Given the description of an element on the screen output the (x, y) to click on. 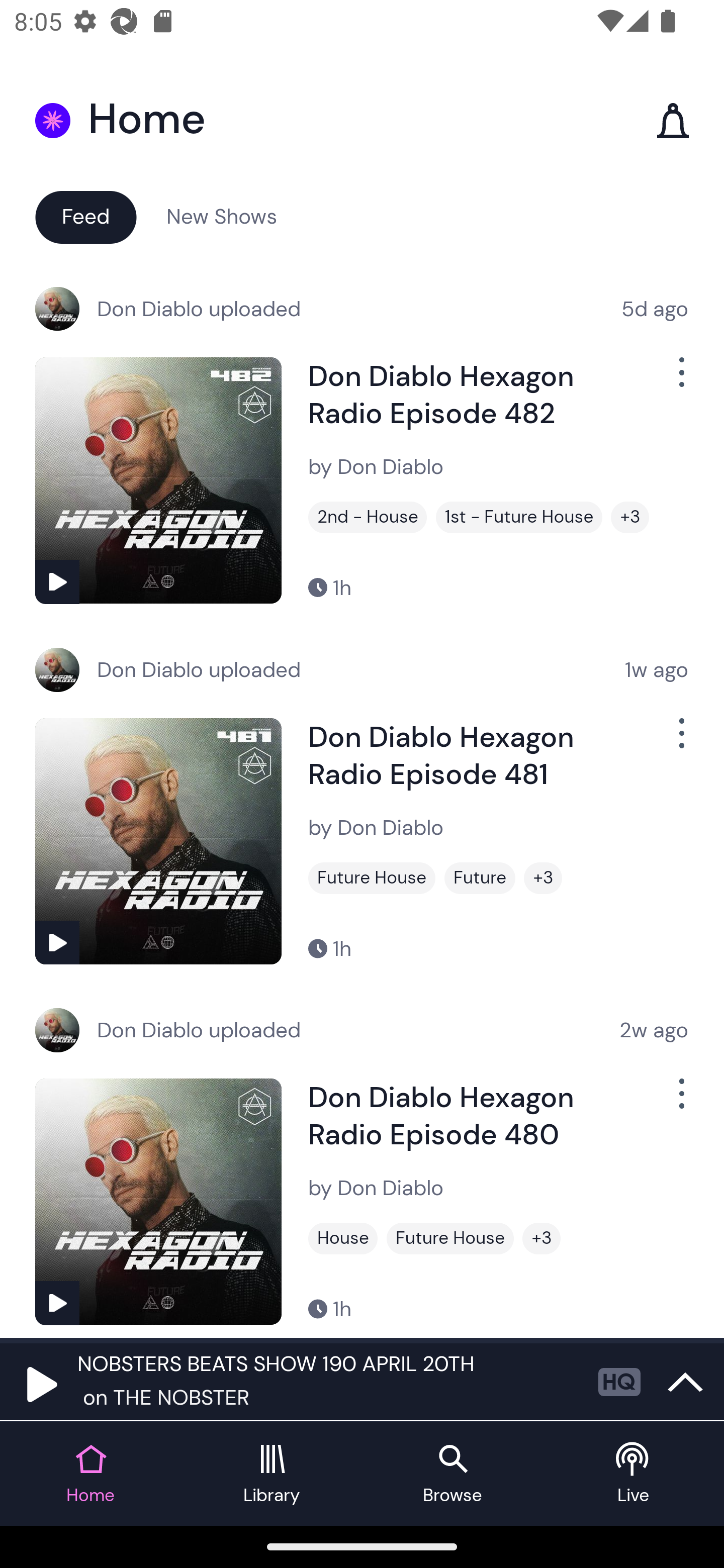
Feed (85, 216)
New Shows (221, 216)
Show Options Menu Button (679, 379)
2nd - House (367, 517)
1st - Future House (518, 517)
Show Options Menu Button (679, 740)
Future House (371, 877)
Future (479, 877)
Show Options Menu Button (679, 1101)
House (342, 1238)
Future House (450, 1238)
Home tab Home (90, 1473)
Library tab Library (271, 1473)
Browse tab Browse (452, 1473)
Live tab Live (633, 1473)
